Given the description of an element on the screen output the (x, y) to click on. 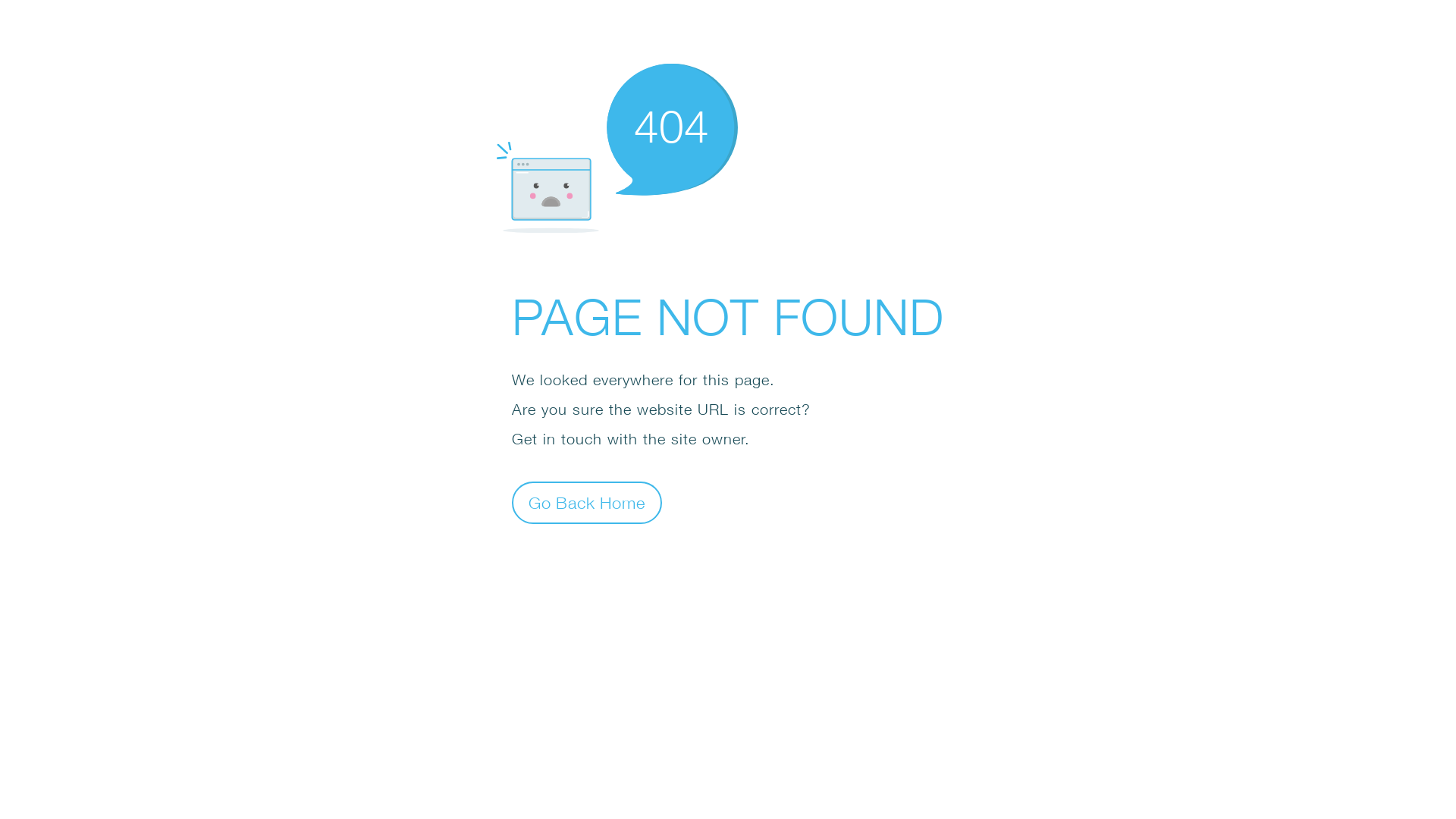
Go Back Home Element type: text (586, 502)
